Given the description of an element on the screen output the (x, y) to click on. 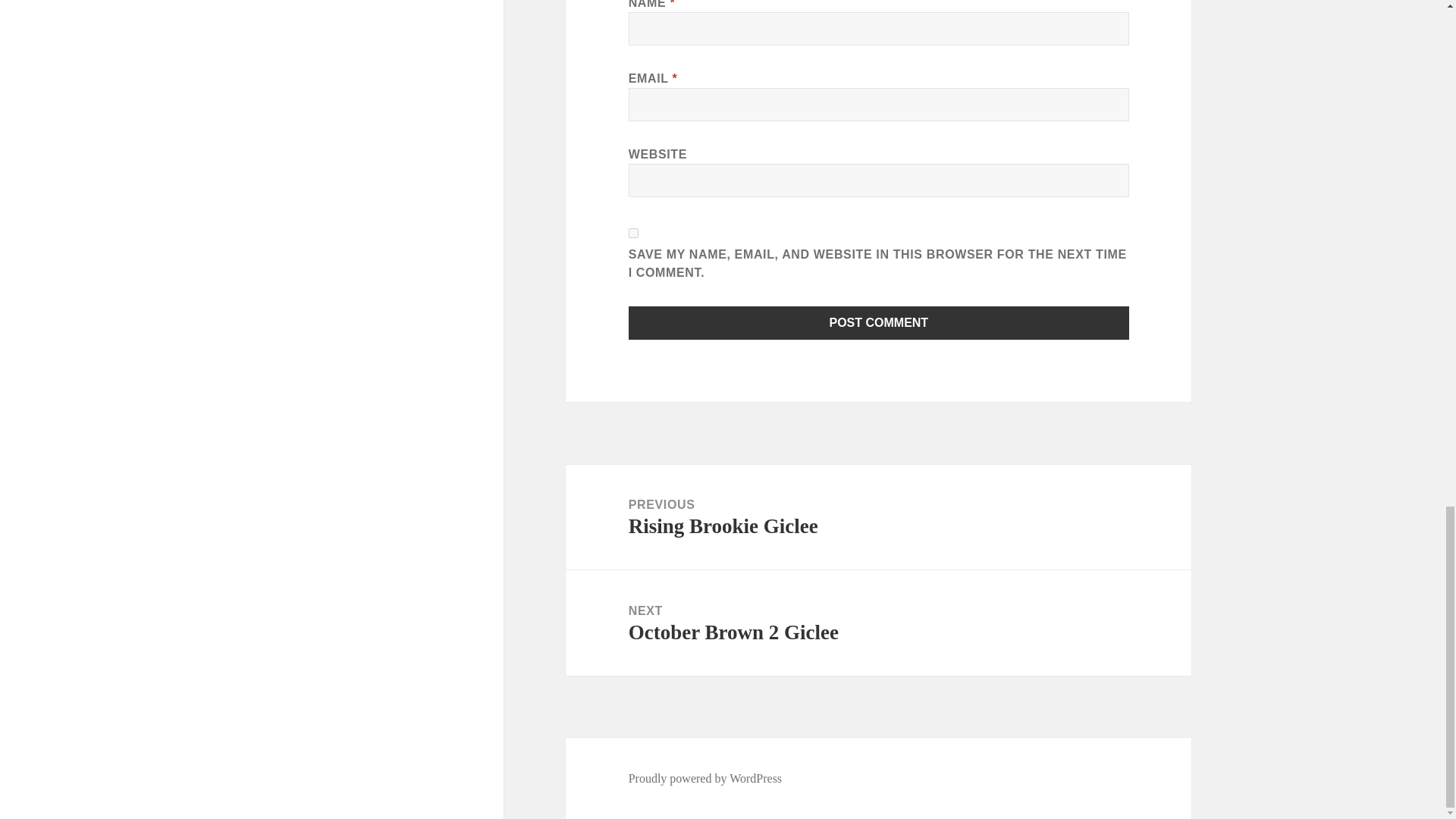
yes (878, 517)
Post Comment (633, 233)
Post Comment (878, 322)
